Given the description of an element on the screen output the (x, y) to click on. 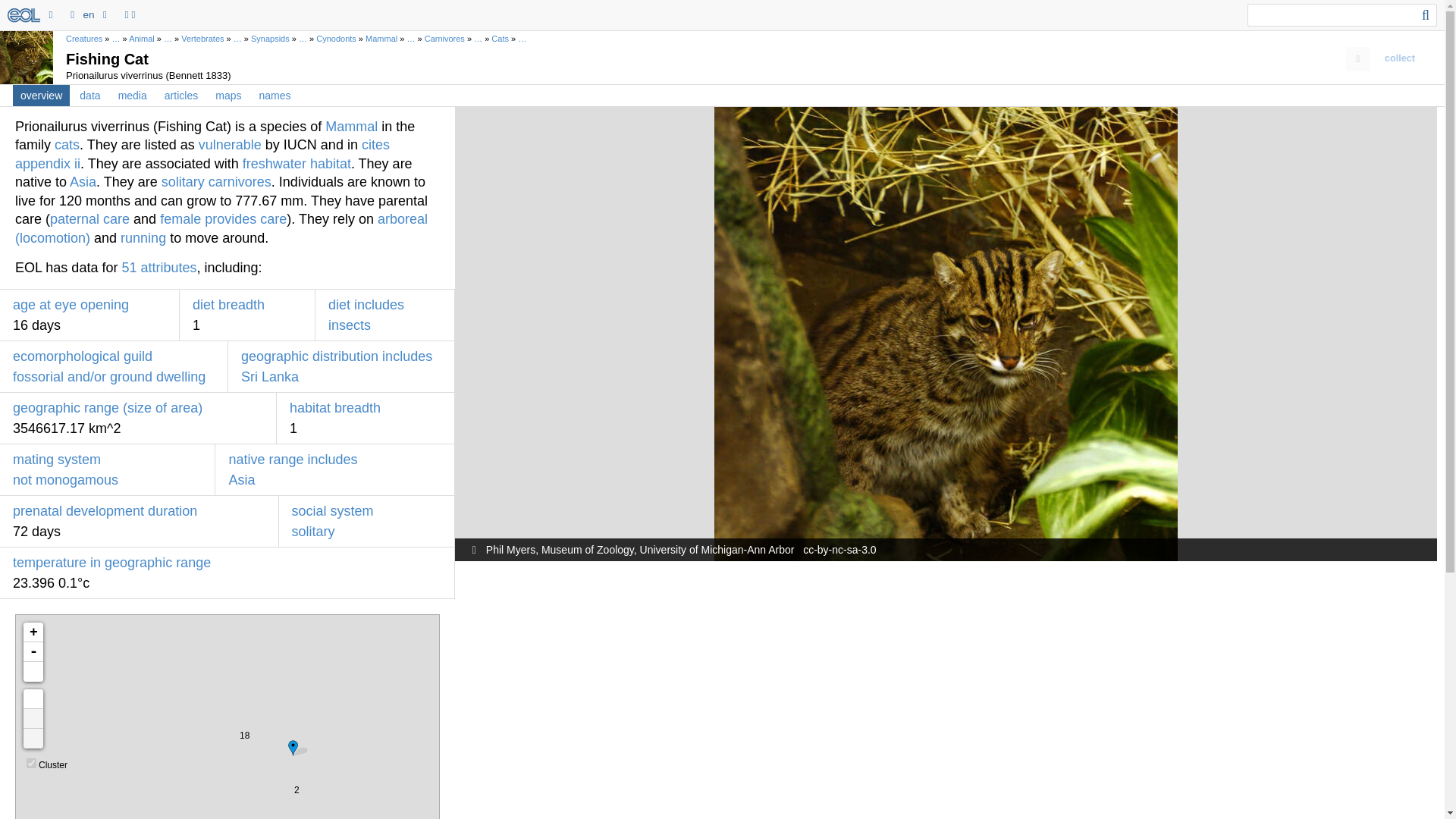
Go back in map view history (33, 738)
on (31, 763)
Zoom in (33, 632)
Go forward in map view history (33, 718)
Go to home map view (33, 699)
Zoom out (33, 651)
